Given the description of an element on the screen output the (x, y) to click on. 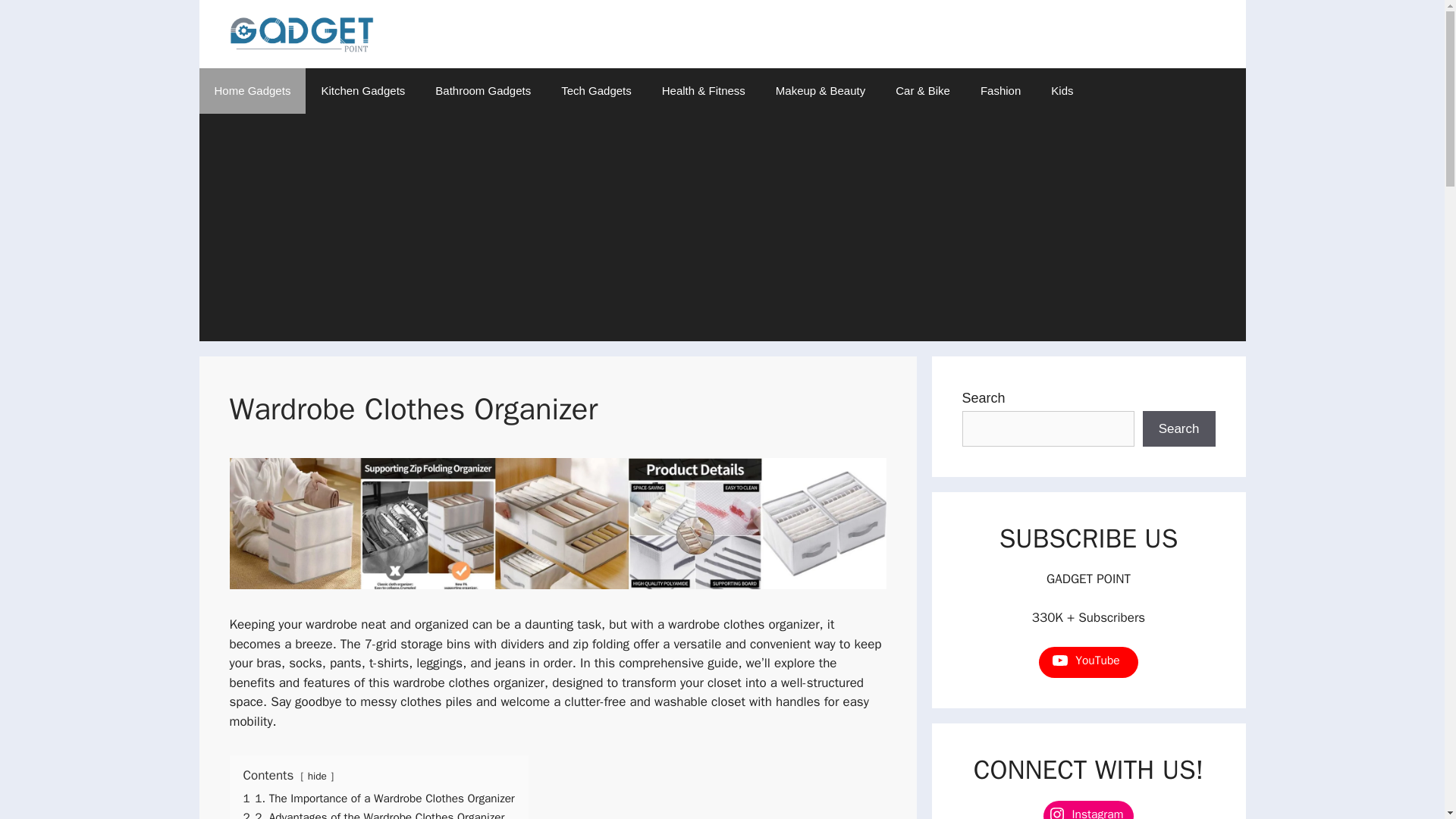
Fashion (1000, 90)
hide (316, 775)
Bathroom Gadgets (483, 90)
2 2. Advantages of the Wardrobe Clothes Organizer (373, 814)
Home Gadgets (251, 90)
1 1. The Importance of a Wardrobe Clothes Organizer (378, 798)
Kitchen Gadgets (362, 90)
Search (1178, 429)
Instagram (1088, 809)
Tech Gadgets (596, 90)
Kids (1061, 90)
YouTube (1088, 660)
